Given the description of an element on the screen output the (x, y) to click on. 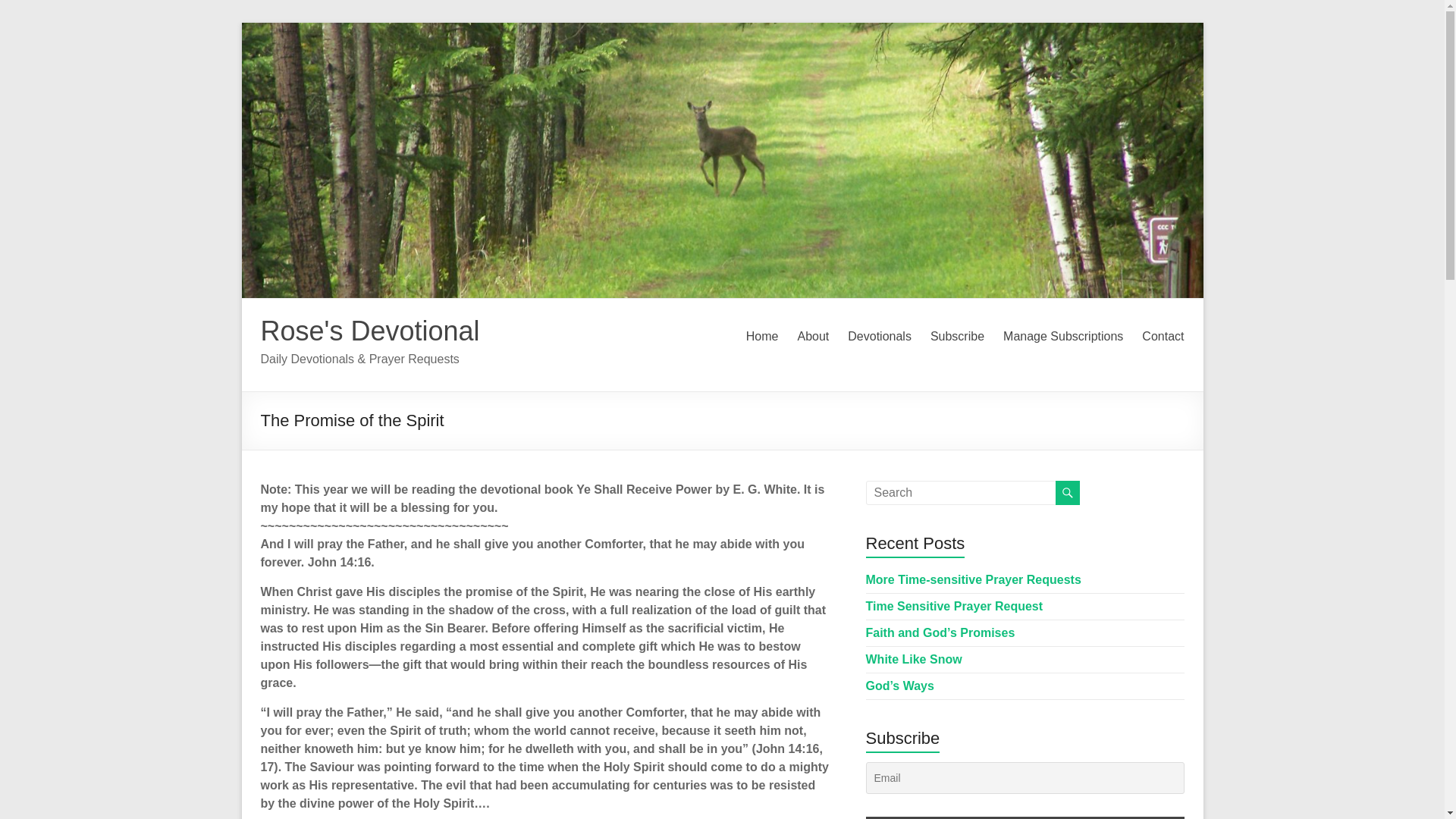
Contact (1162, 336)
Subscribe (957, 336)
Devotionals (879, 336)
More Time-sensitive Prayer Requests (973, 579)
Time Sensitive Prayer Request (954, 605)
Rose's Devotional (370, 330)
White Like Snow (914, 658)
About (812, 336)
